Given the description of an element on the screen output the (x, y) to click on. 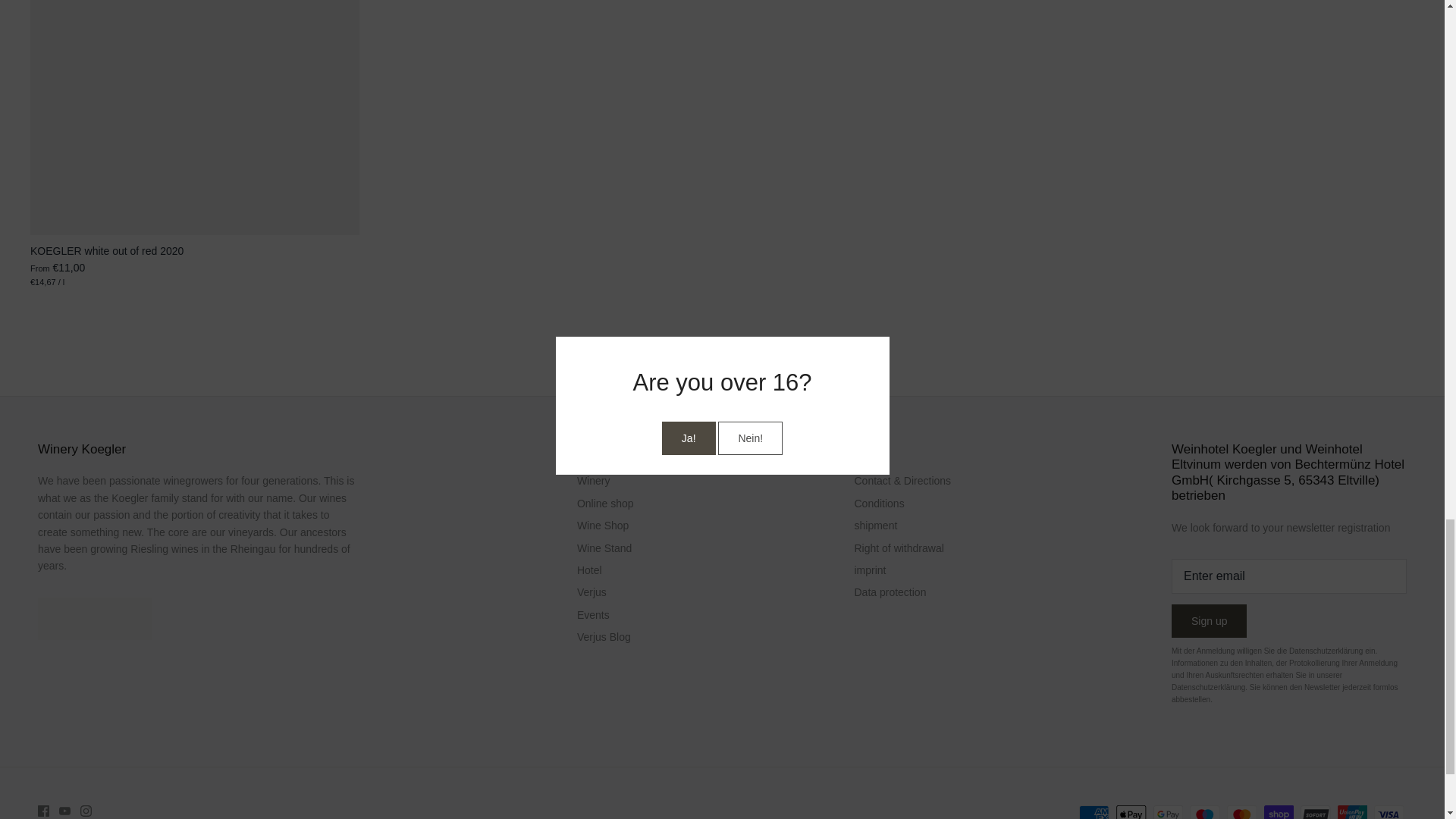
Union Pay (1352, 812)
American Express (1093, 812)
Youtube (64, 810)
Facebook (43, 810)
Google Pay (1168, 812)
Visa (1388, 812)
Mastercard (1241, 812)
Shop Pay (1277, 812)
Maestro (1204, 812)
SOFORT (1315, 812)
Apple Pay (1130, 812)
